Given the description of an element on the screen output the (x, y) to click on. 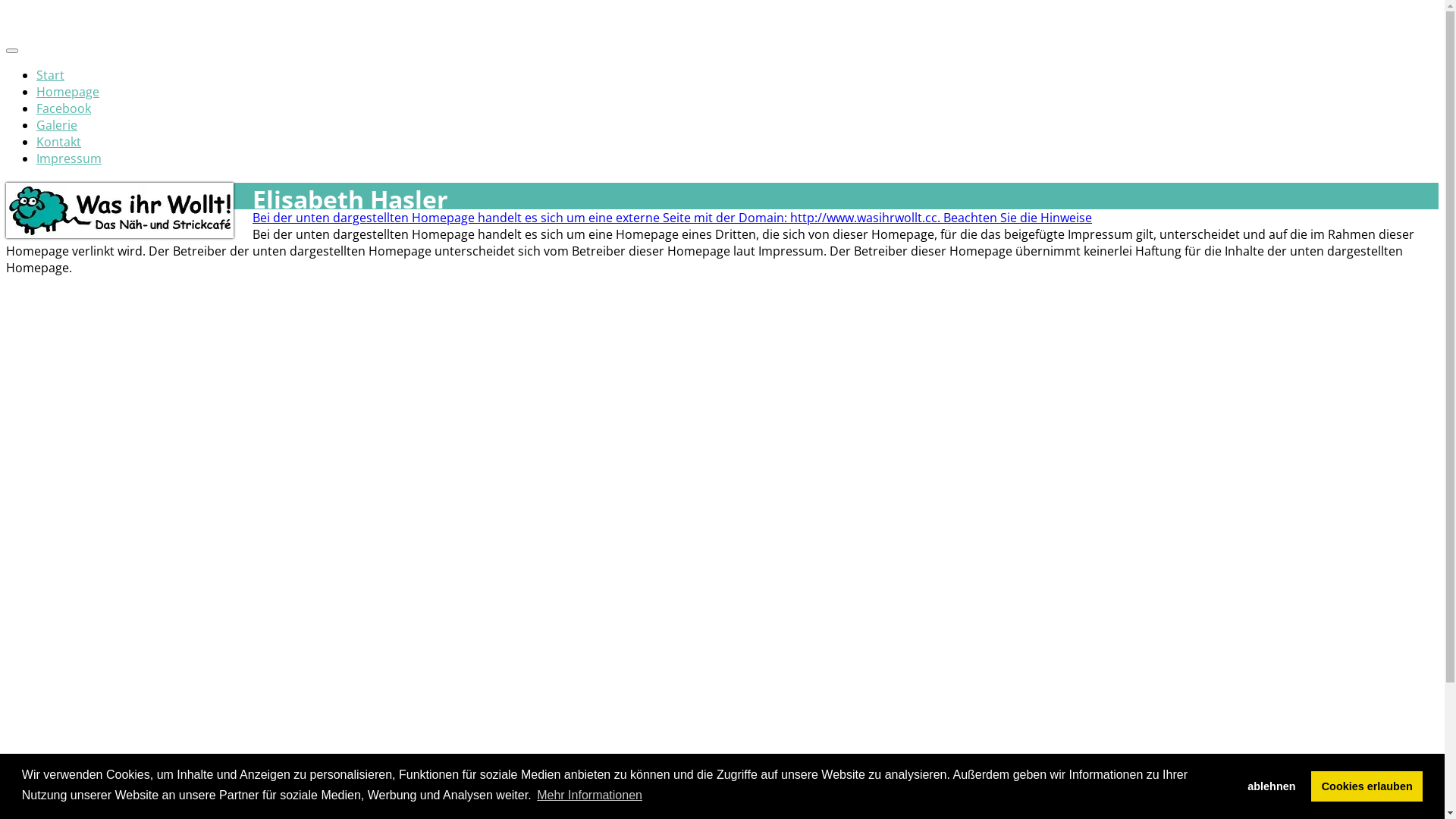
ablehnen Element type: text (1271, 786)
Cookies erlauben Element type: text (1366, 786)
Navigation einblenden Element type: text (12, 50)
Facebook Element type: text (63, 108)
Start Element type: text (50, 74)
Mehr Informationen Element type: text (589, 795)
Kontakt Element type: text (58, 141)
Impressum Element type: text (68, 158)
Homepage Element type: text (67, 91)
Galerie Element type: text (56, 124)
